Given the description of an element on the screen output the (x, y) to click on. 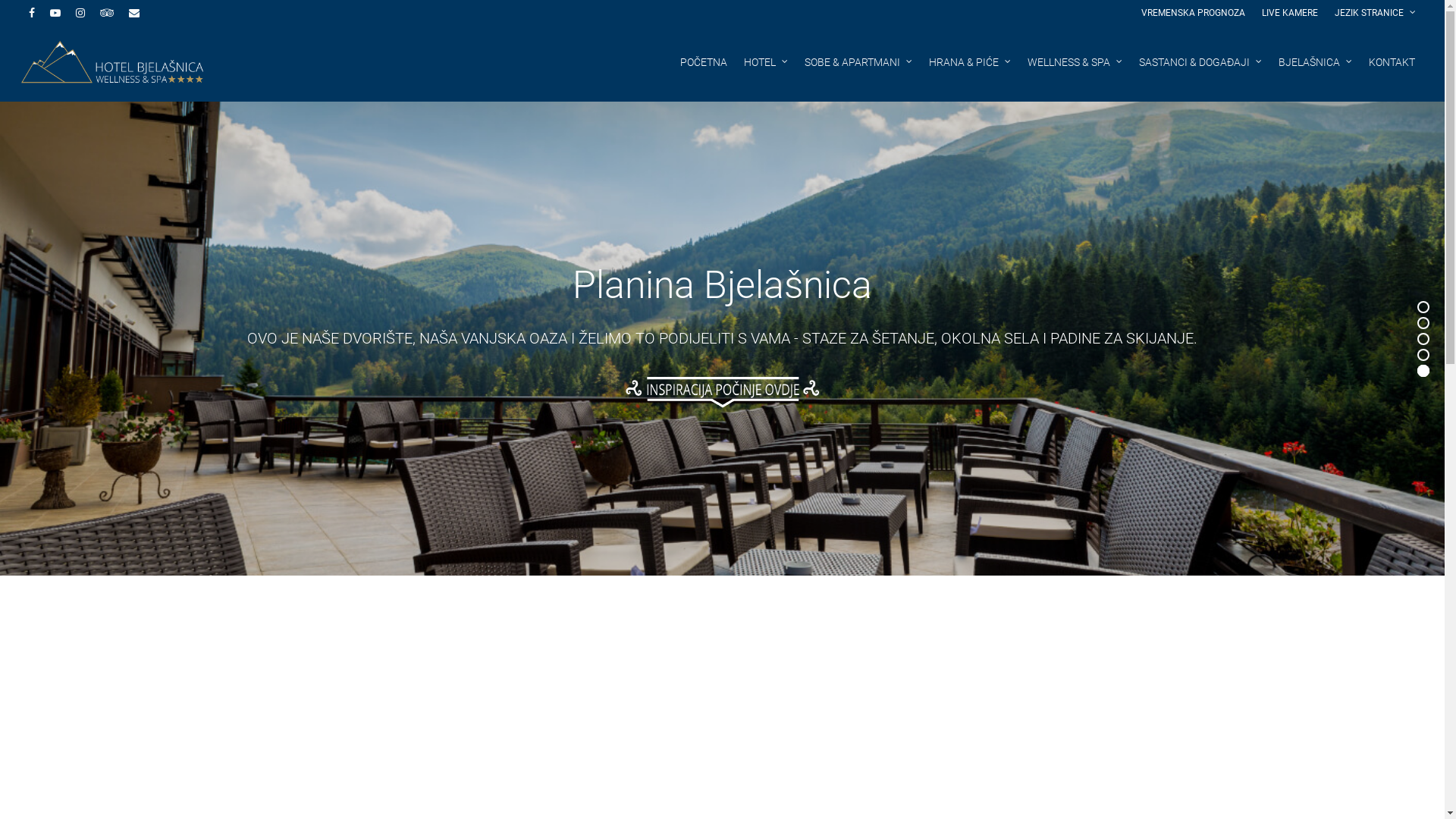
WELLNESS & SPA Element type: text (1074, 70)
LIVE KAMERE Element type: text (1289, 13)
HOTEL Element type: text (765, 70)
JEZIK STRANICE Element type: text (1374, 13)
VREMENSKA PROGNOZA Element type: text (1192, 13)
SOBE & APARTMANI Element type: text (858, 70)
KONTAKT Element type: text (1391, 70)
